Given the description of an element on the screen output the (x, y) to click on. 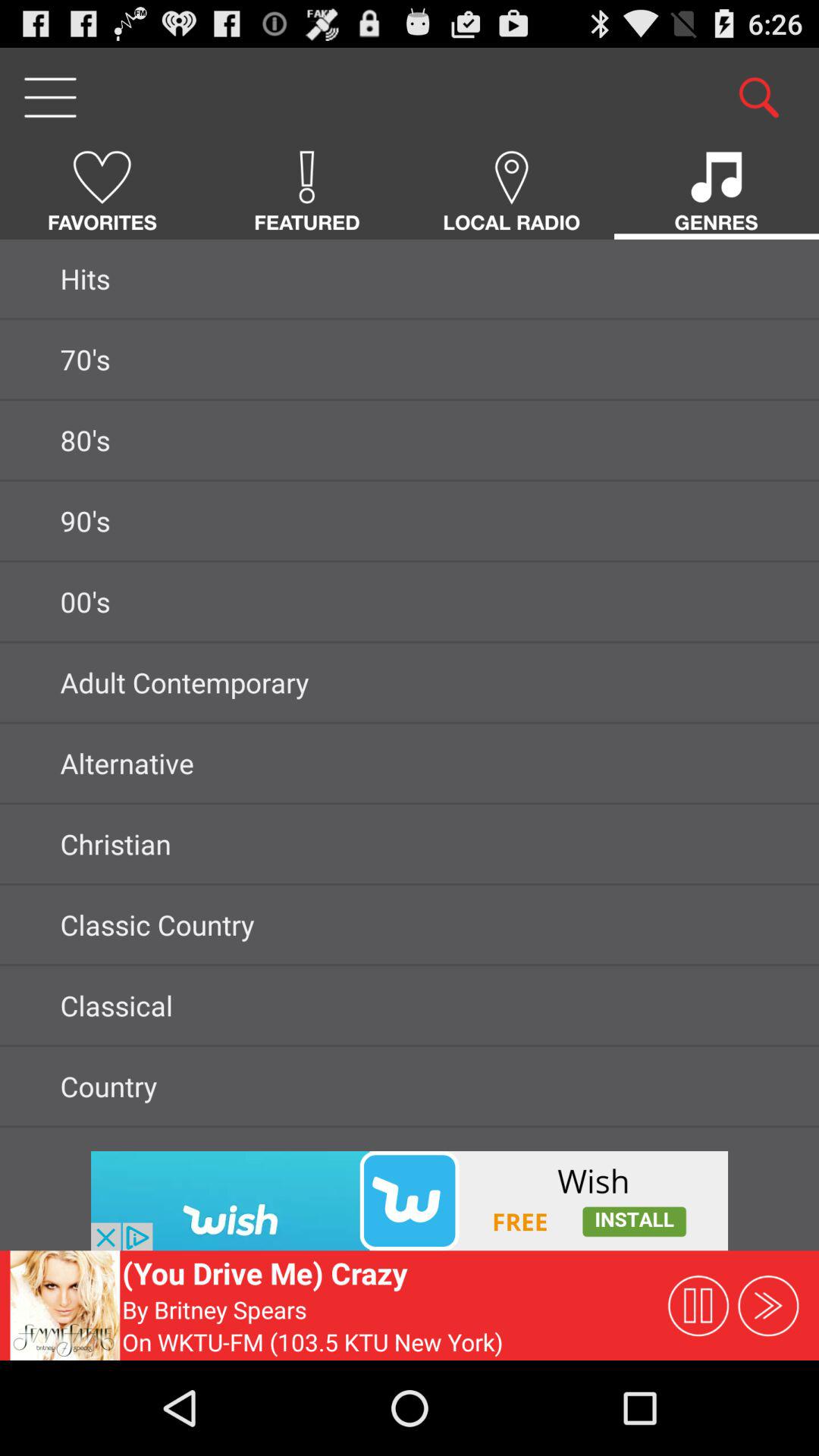
pause the song (698, 1305)
